Given the description of an element on the screen output the (x, y) to click on. 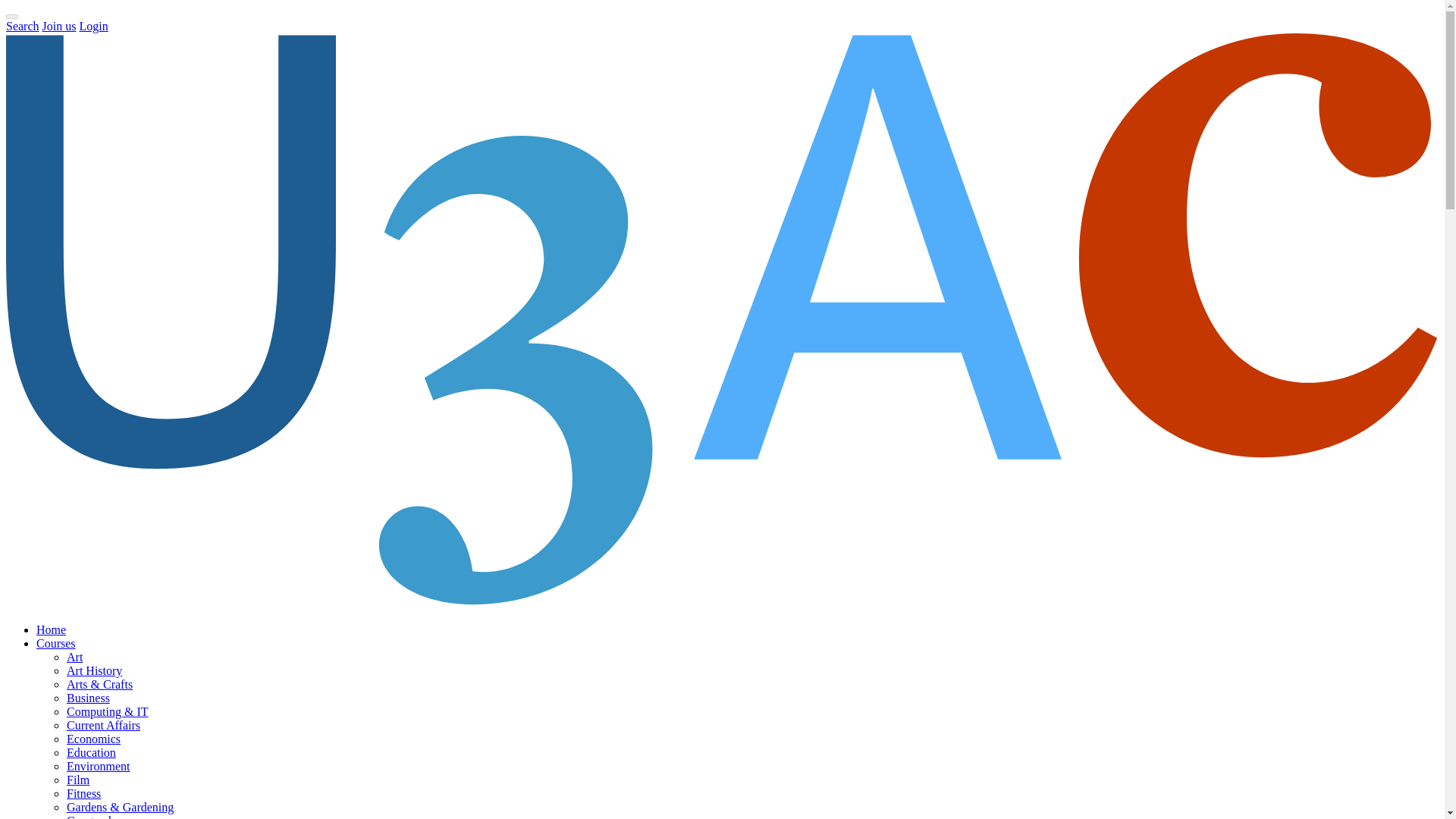
Current Affairs (102, 725)
Home (50, 629)
Fitness (83, 793)
Environment (98, 766)
Geography (93, 816)
Film (77, 779)
Art History (94, 670)
Business (88, 697)
Colour contrast (11, 16)
Art History (94, 670)
